Given the description of an element on the screen output the (x, y) to click on. 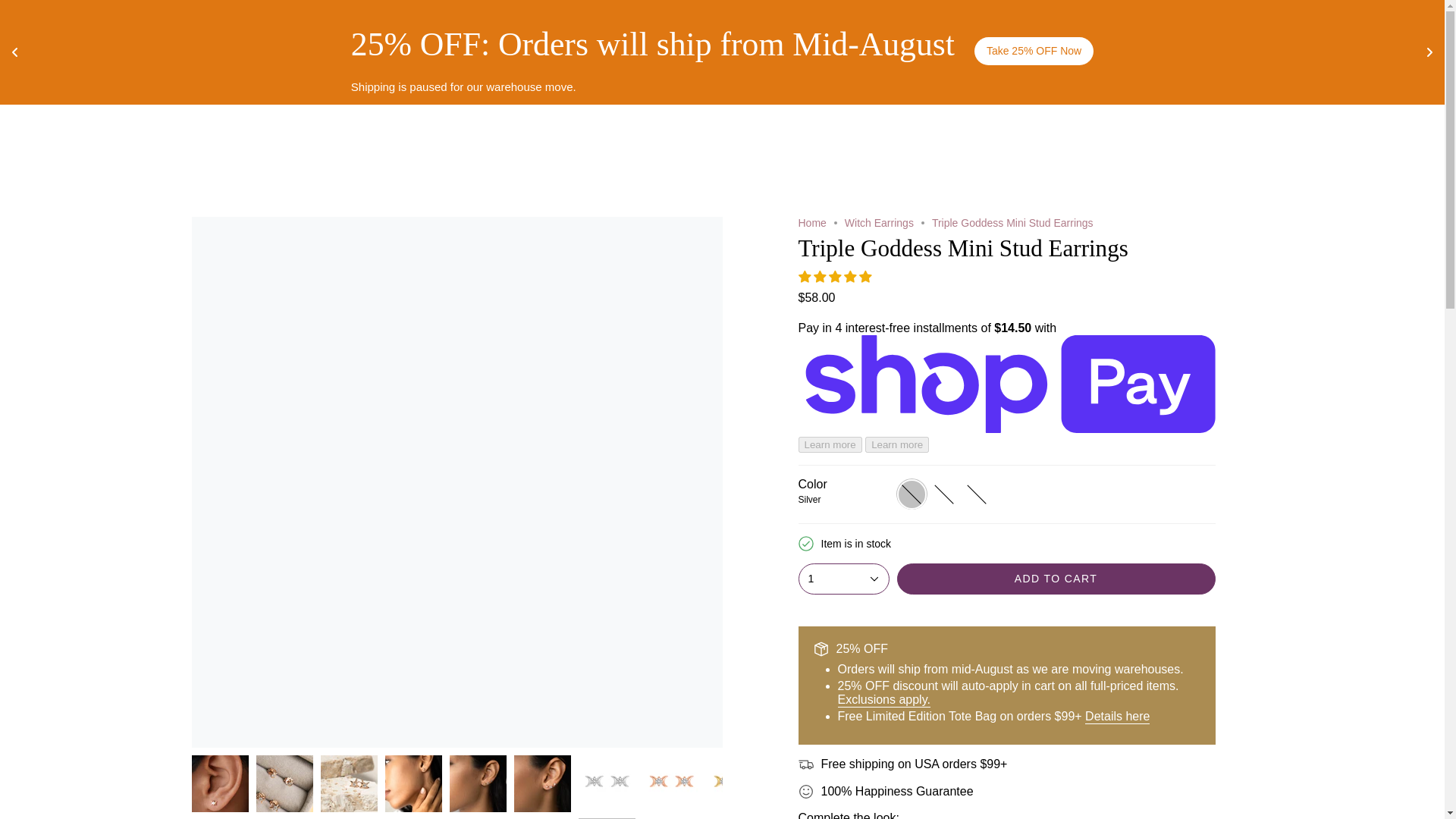
Free Merry Meet Witchy Tote Bag (1117, 718)
